Given the description of an element on the screen output the (x, y) to click on. 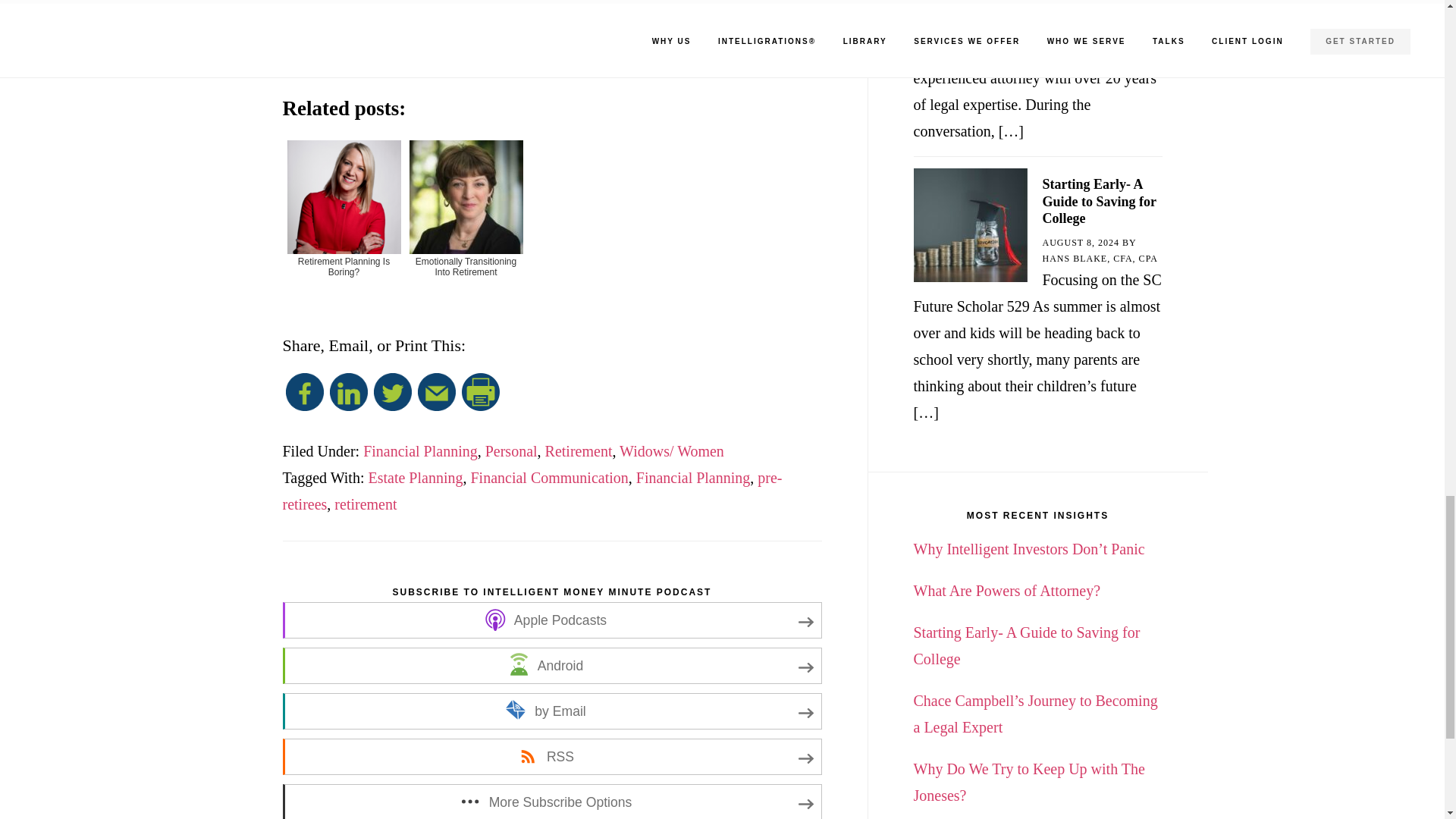
Subscribe by Email (551, 710)
Subscribe via RSS (551, 756)
Subscribe on Apple Podcasts (551, 619)
More Subscribe Options (551, 801)
Subscribe on Android (551, 665)
